Given the description of an element on the screen output the (x, y) to click on. 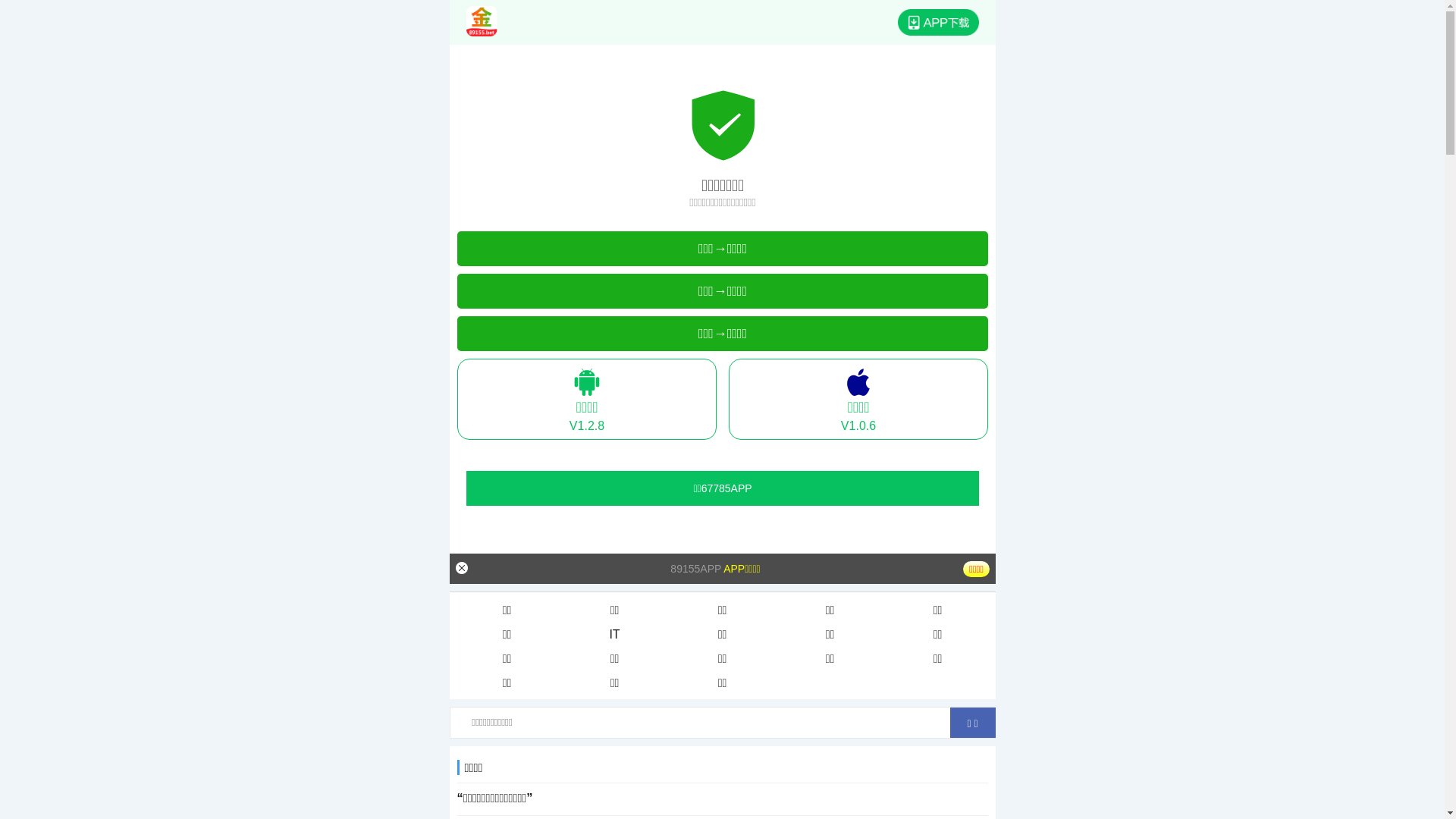
IT Element type: text (614, 634)
